Given the description of an element on the screen output the (x, y) to click on. 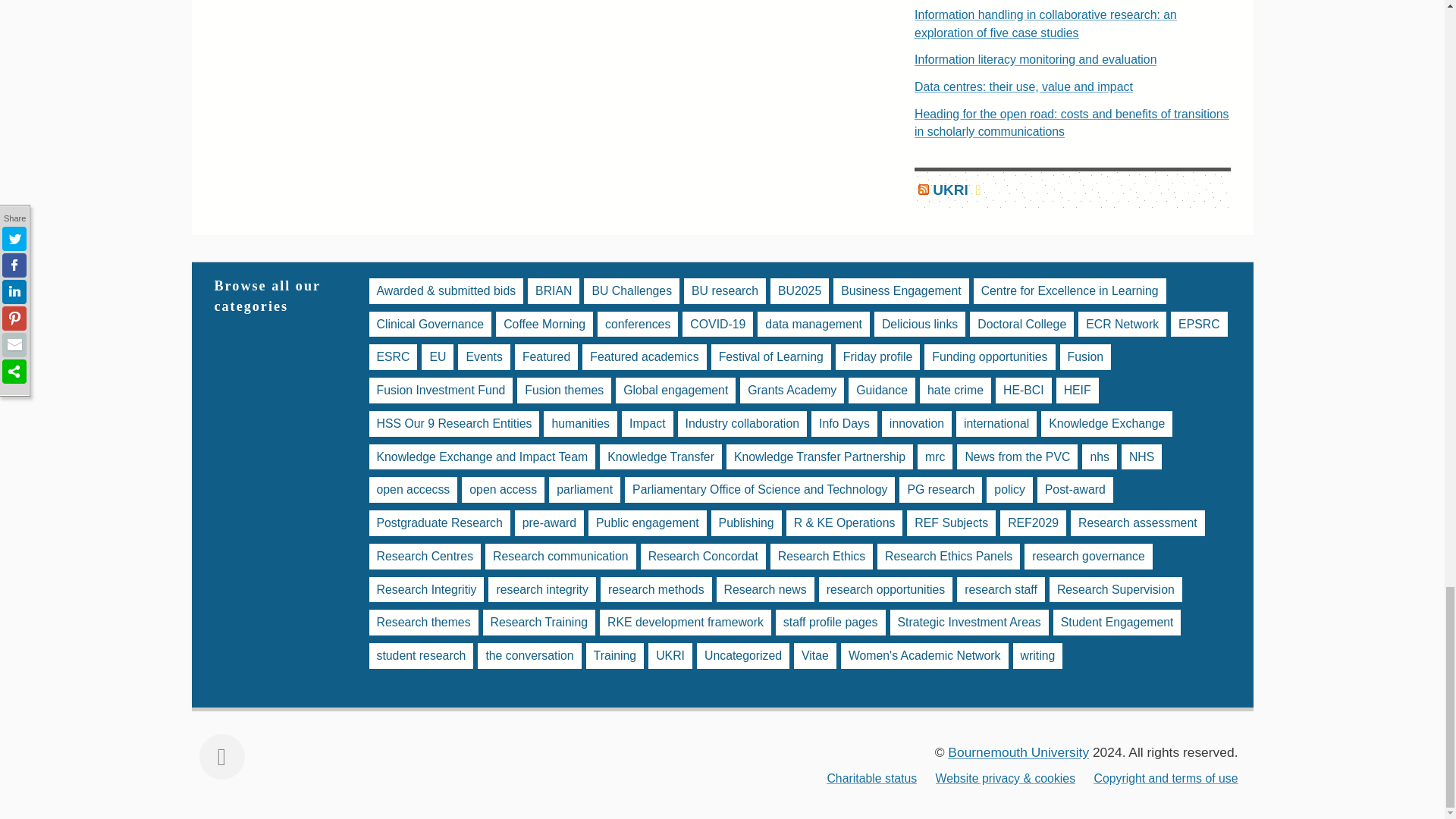
Bournemouth University homepage (1018, 752)
